Given the description of an element on the screen output the (x, y) to click on. 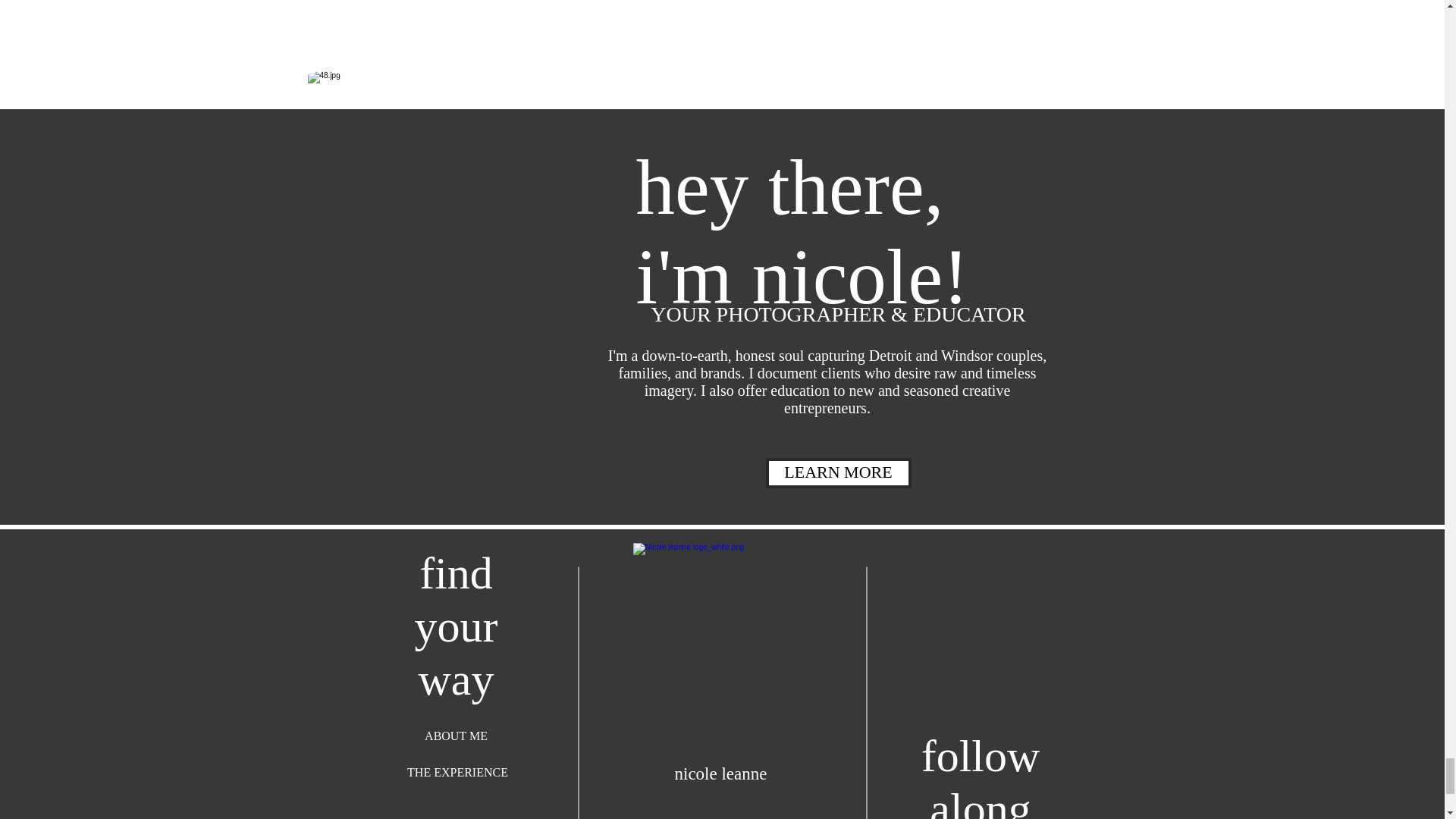
ABOUT ME (456, 735)
THE EXPERIENCE (457, 771)
nicole leanne (721, 772)
LEARN MORE (838, 472)
